Given the description of an element on the screen output the (x, y) to click on. 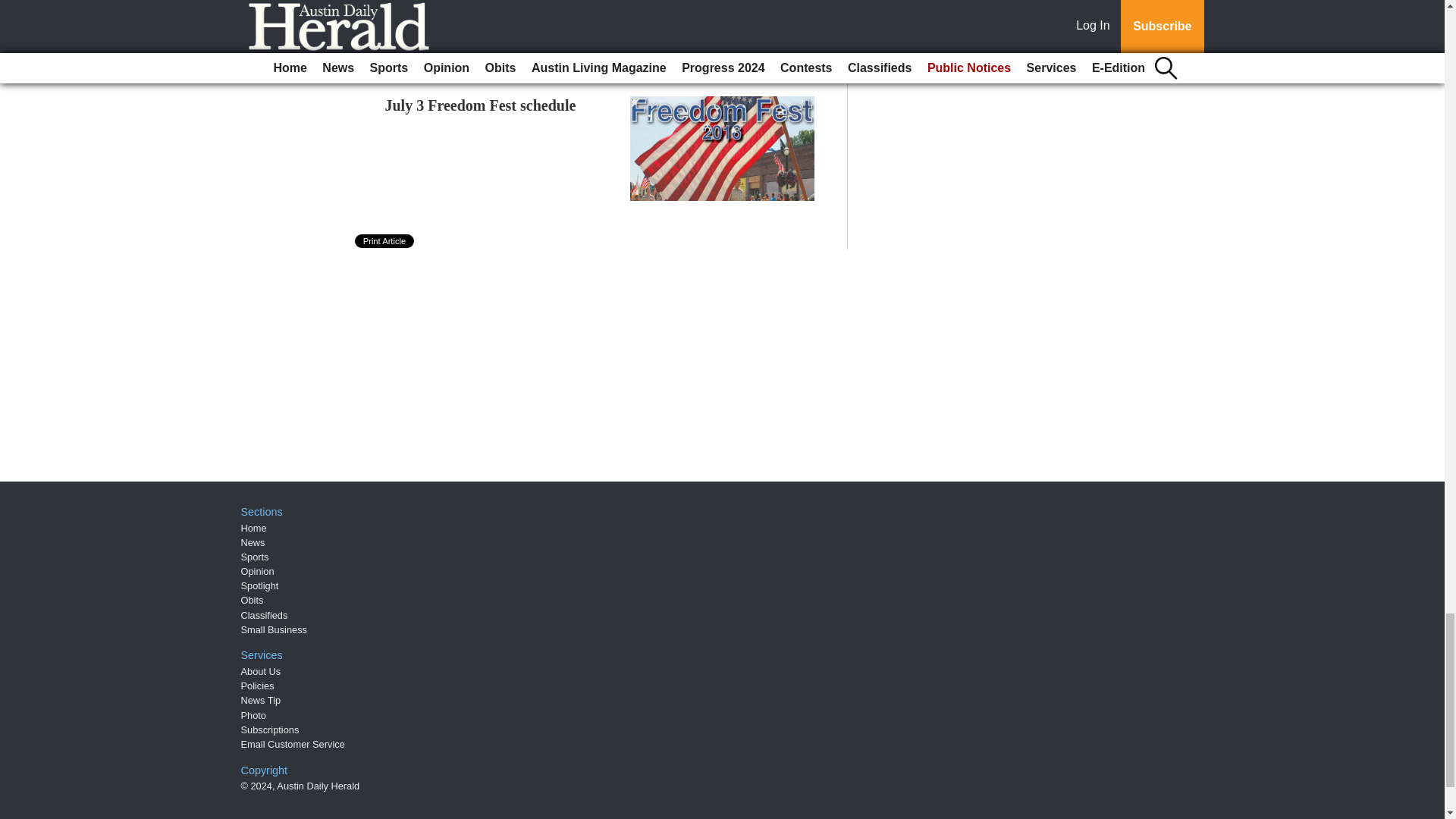
July 3 Freedom Fest schedule (480, 105)
